Given the description of an element on the screen output the (x, y) to click on. 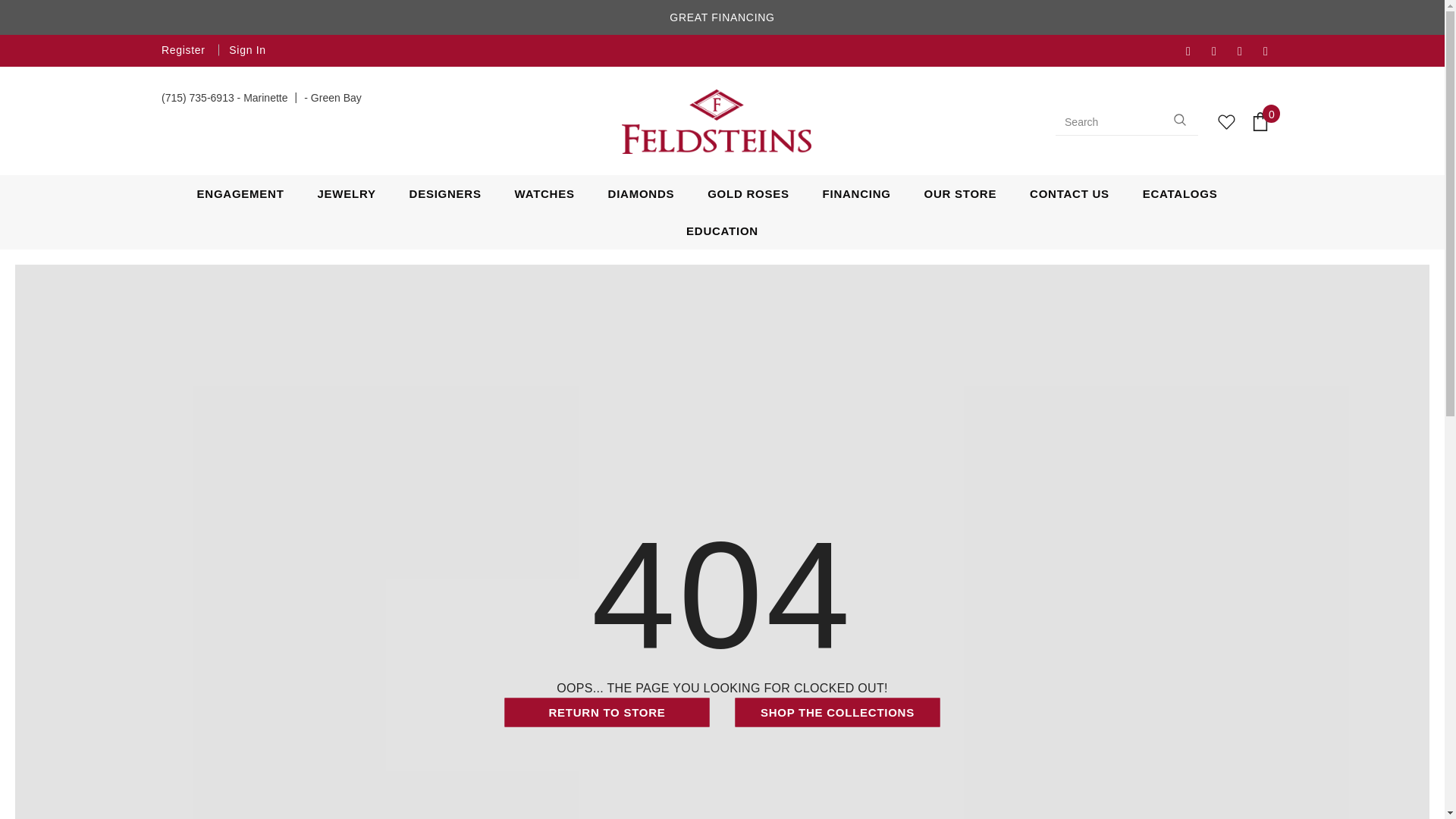
GREAT FINANCING (721, 17)
Pinterest (1272, 51)
Sign In (242, 50)
Facebook (1195, 51)
Register (184, 50)
Instagram (1246, 51)
Twitter (1220, 51)
